Given the description of an element on the screen output the (x, y) to click on. 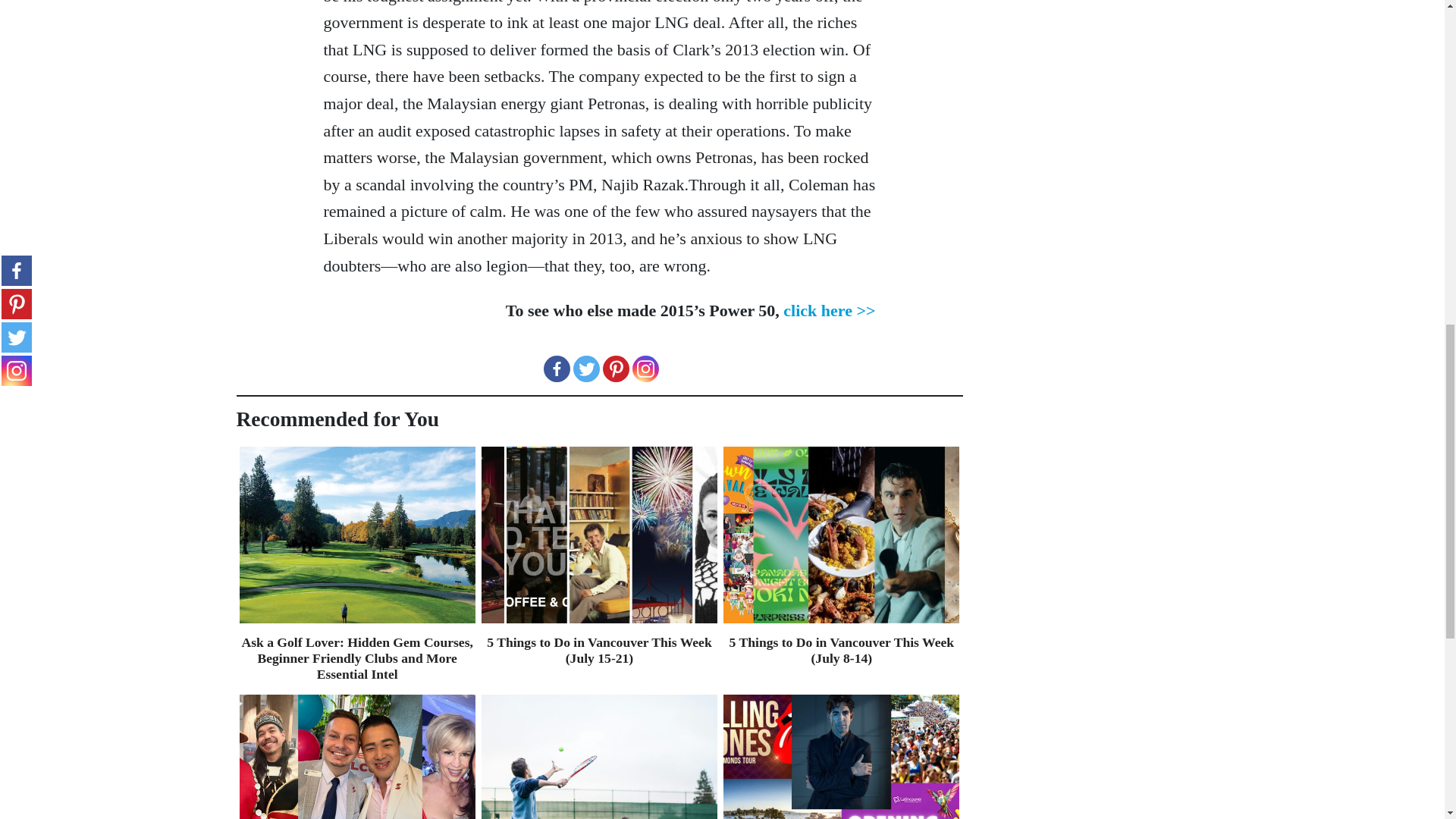
Pinterest (615, 368)
Facebook (556, 368)
Instagram (645, 368)
Twitter (586, 368)
